Given the description of an element on the screen output the (x, y) to click on. 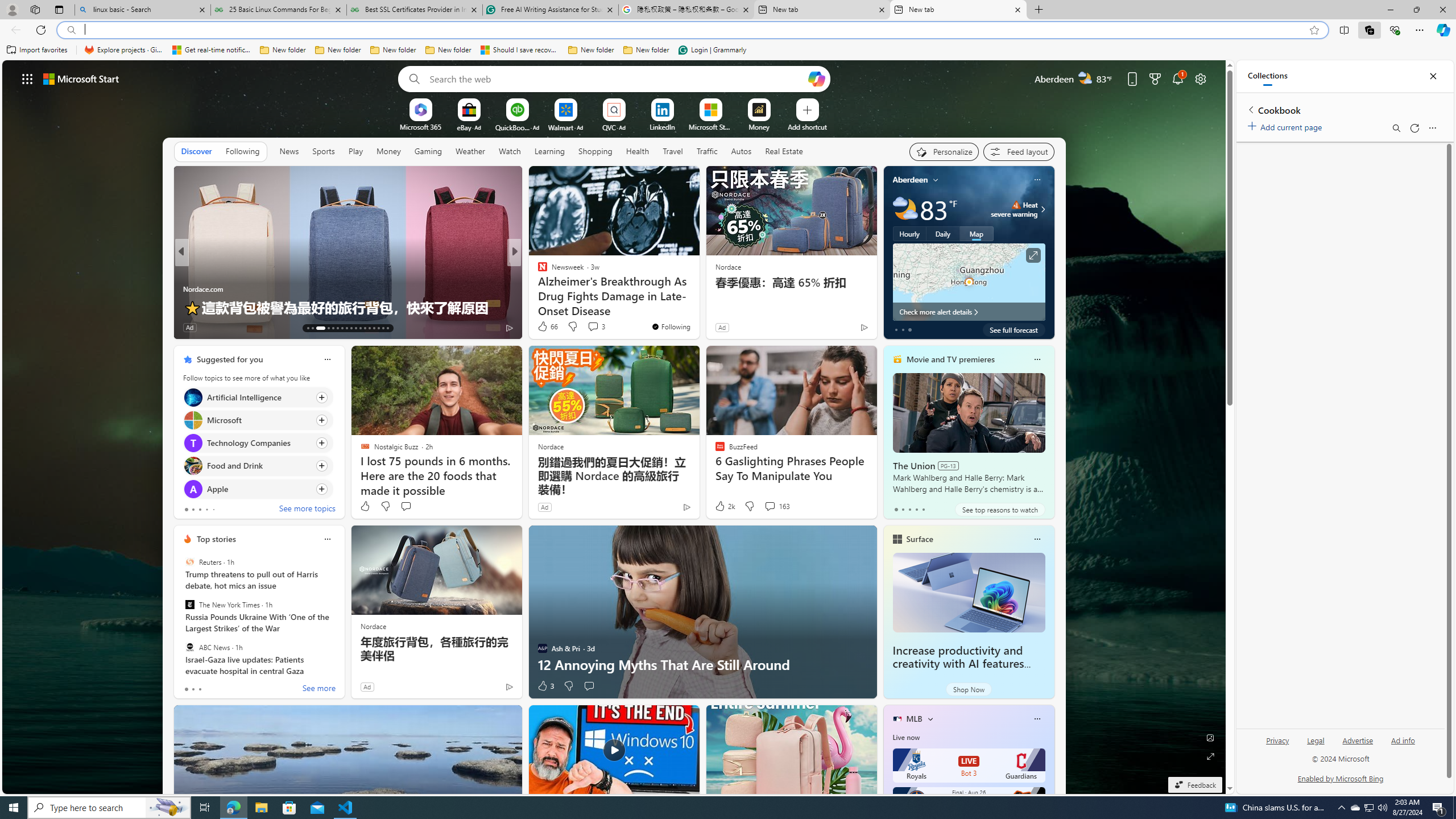
See full forecast (1013, 329)
View comments 26 Comment (592, 327)
Partly cloudy (904, 208)
107 Like (545, 327)
AutomationID: tab-13 (307, 328)
View comments 137 Comment (245, 327)
Click to follow topic Apple (257, 488)
Add a site (807, 126)
New folder (646, 49)
Edit Background (1210, 737)
AutomationID: tab-14 (312, 328)
